Given the description of an element on the screen output the (x, y) to click on. 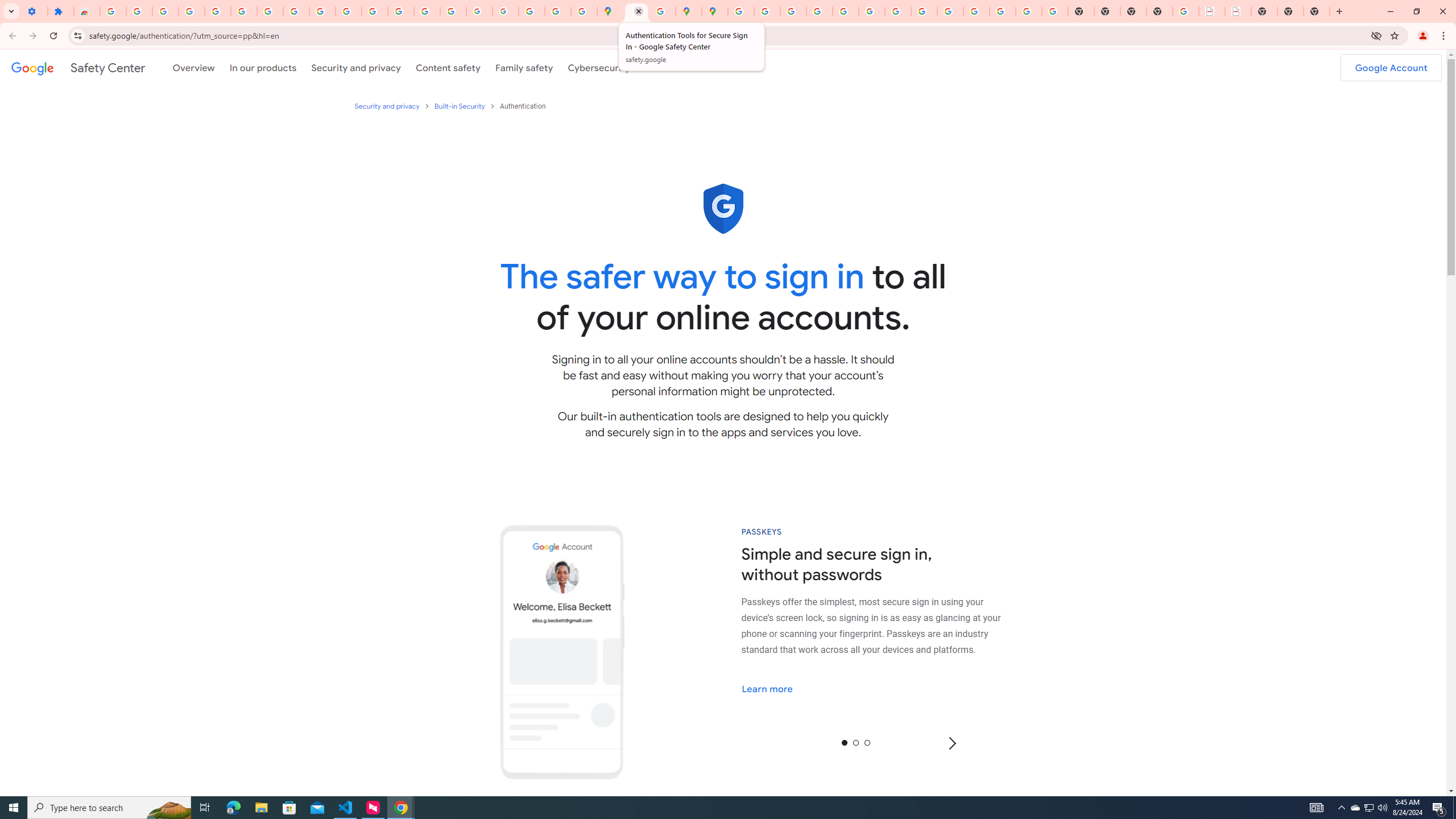
Google Account (1390, 67)
BAE Systems Brasil | BAE Systems (1238, 11)
Built-in Security  (459, 105)
YouTube (897, 11)
Reviews: Helix Fruit Jump Arcade Game (86, 11)
In our products (262, 67)
